Given the description of an element on the screen output the (x, y) to click on. 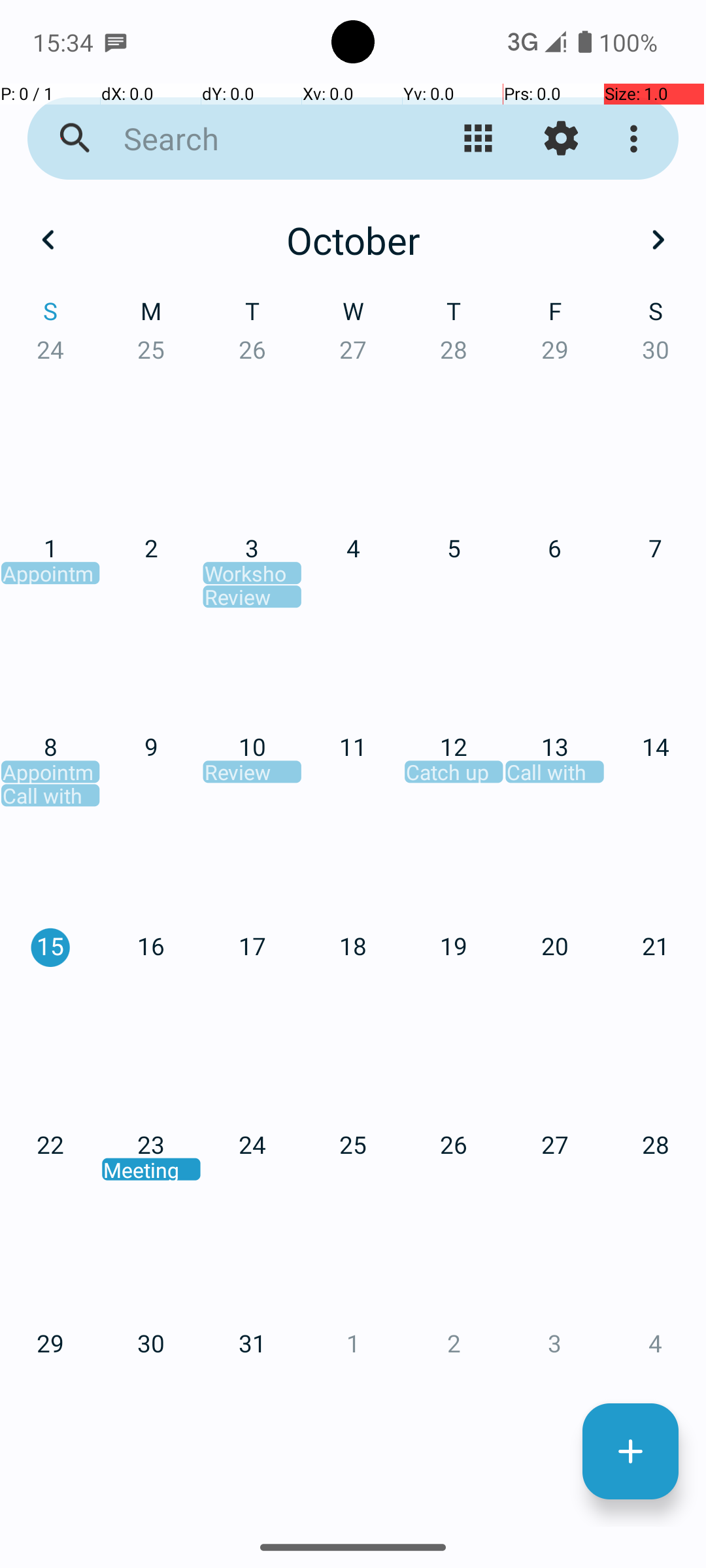
Change view Element type: android.widget.Button (477, 138)
New Event Element type: android.widget.ImageButton (630, 1451)
October Element type: android.widget.TextView (352, 239)
